Given the description of an element on the screen output the (x, y) to click on. 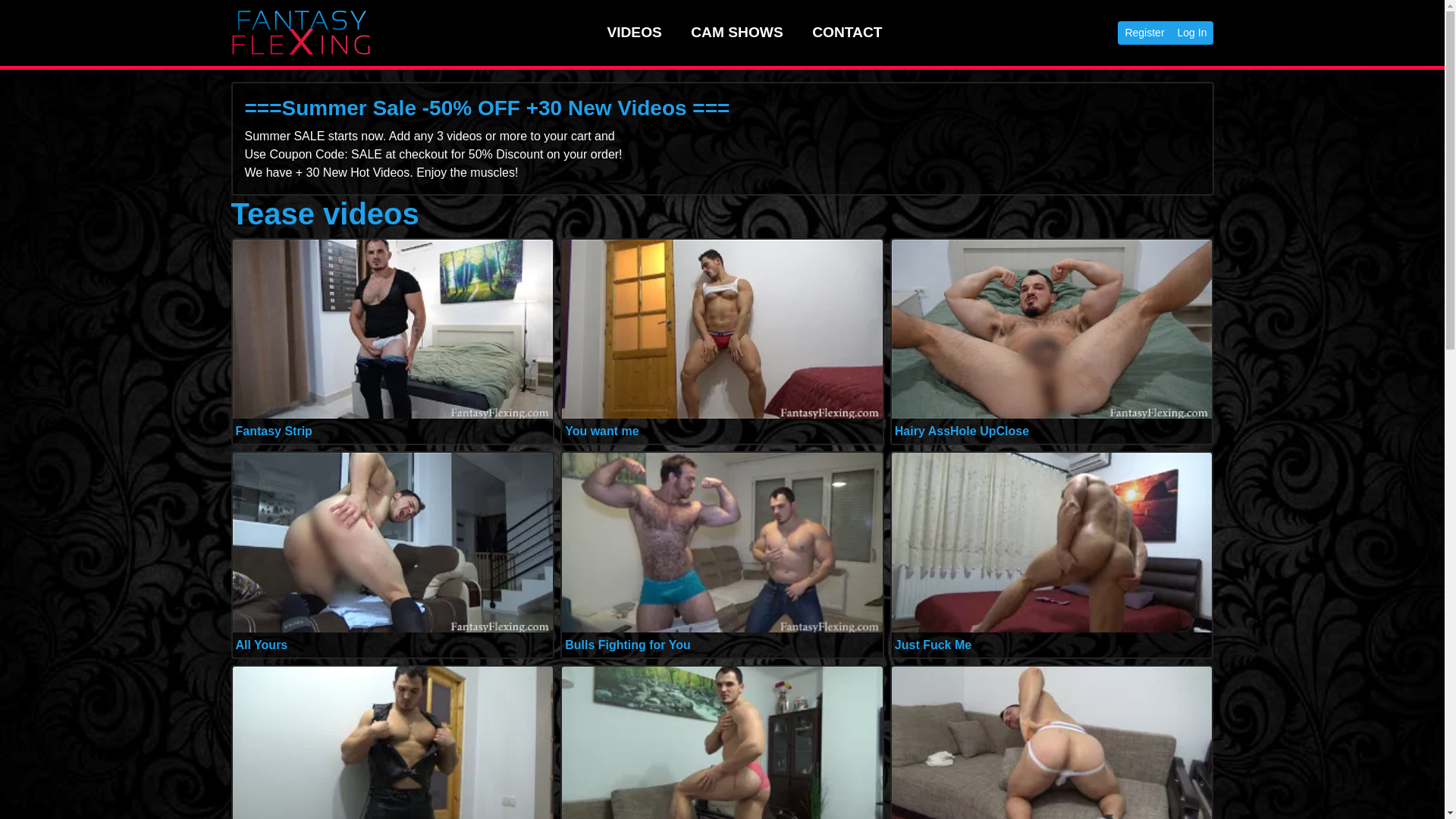
CAM SHOWS (737, 32)
All Yours (260, 644)
Just Fuck Me (933, 644)
VIDEOS (634, 32)
Register (1144, 33)
Bulls Fighting for You (627, 644)
CONTACT (846, 32)
Log In (1192, 33)
Fantasy Strip (272, 431)
Hairy AssHole UpClose (962, 431)
You want me (601, 431)
